Given the description of an element on the screen output the (x, y) to click on. 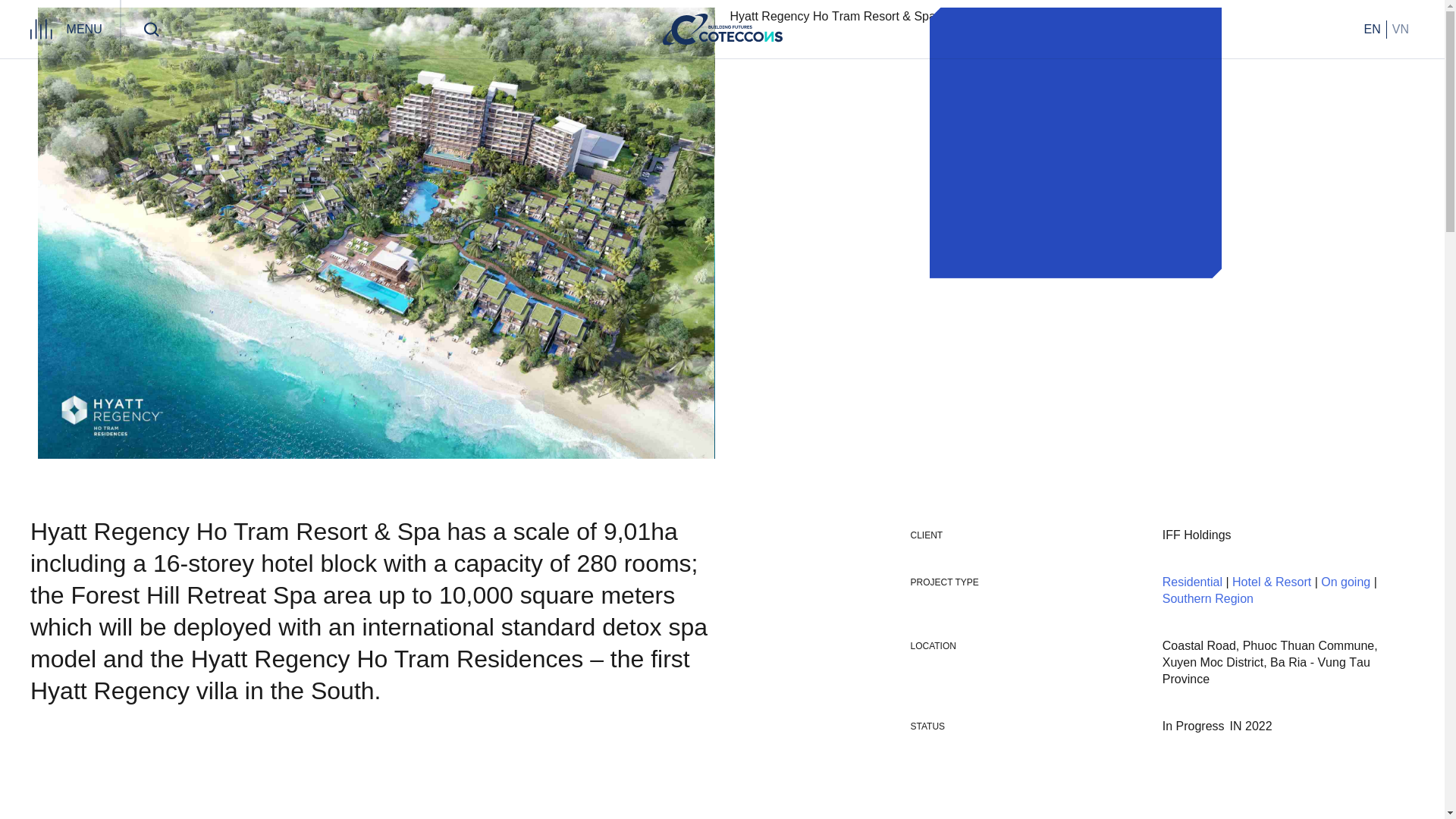
Residential (1192, 582)
VN (1399, 28)
On going (1345, 582)
VN (1399, 28)
EN (1372, 28)
Southern Region (1207, 598)
MENU (83, 29)
EN (1372, 28)
